Given the description of an element on the screen output the (x, y) to click on. 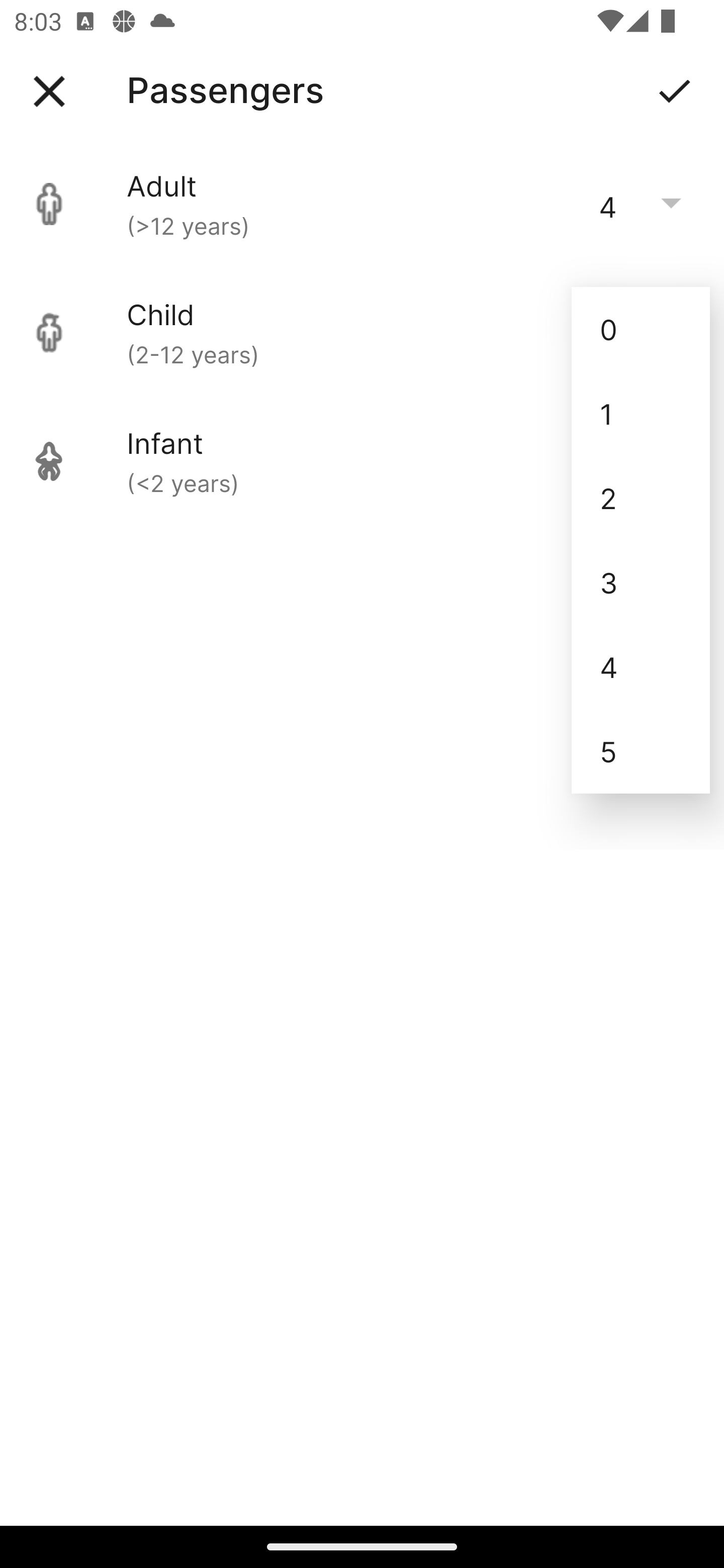
0 (640, 328)
1 (640, 413)
2 (640, 498)
3 (640, 582)
4 (640, 666)
5 (640, 750)
